Given the description of an element on the screen output the (x, y) to click on. 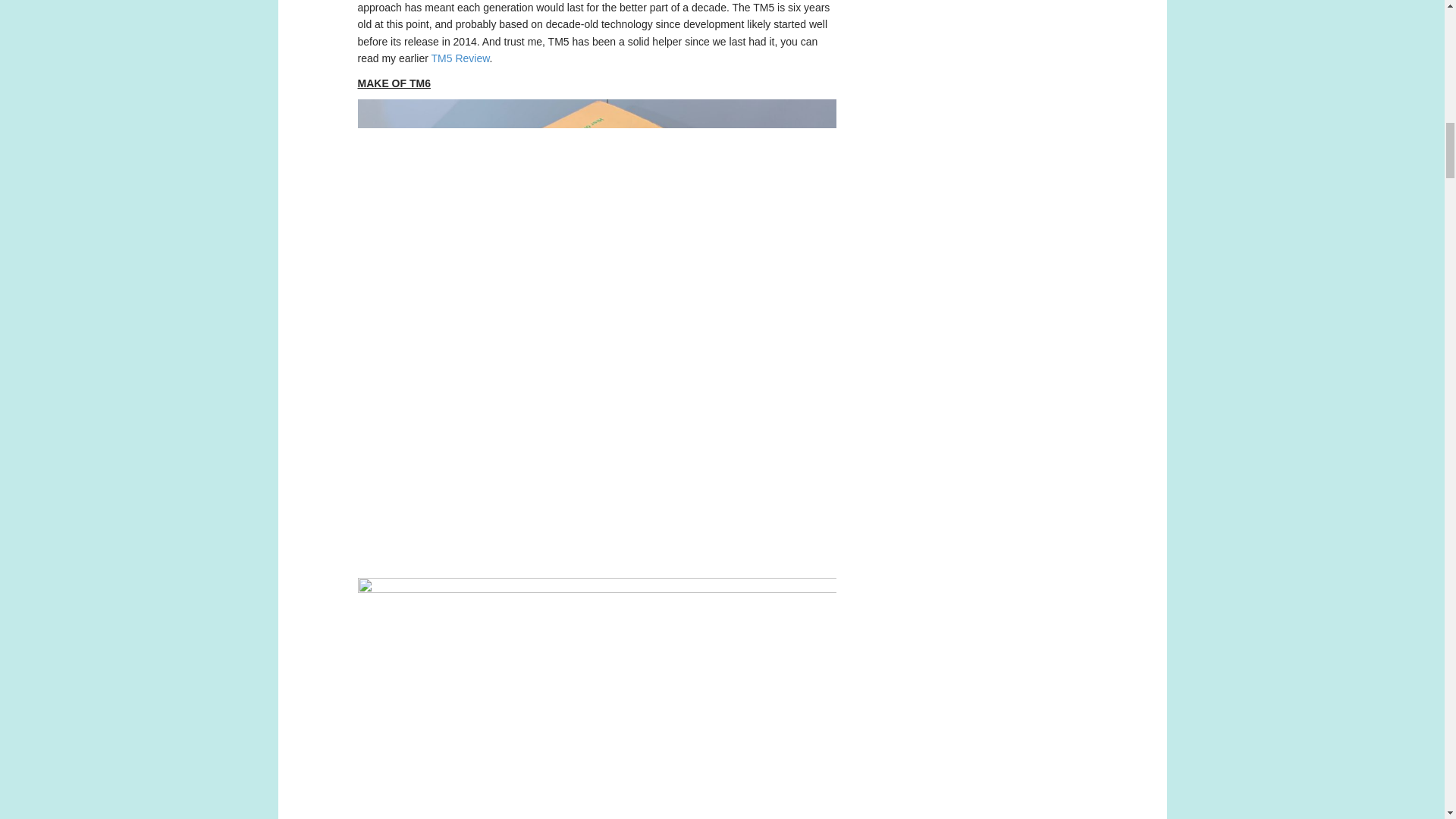
Review (471, 58)
TM5 (442, 58)
